Given the description of an element on the screen output the (x, y) to click on. 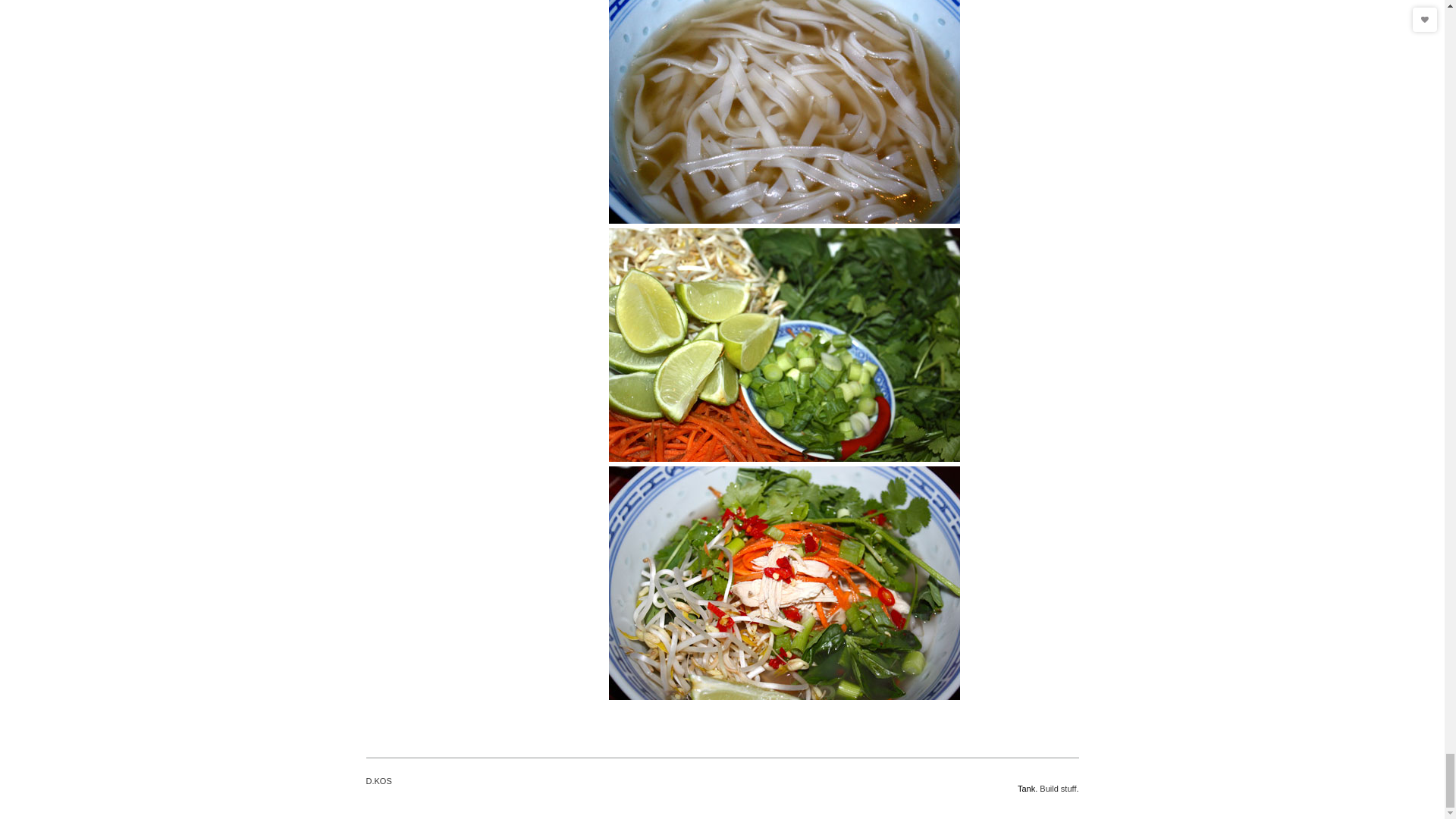
Tank (1026, 788)
